Given the description of an element on the screen output the (x, y) to click on. 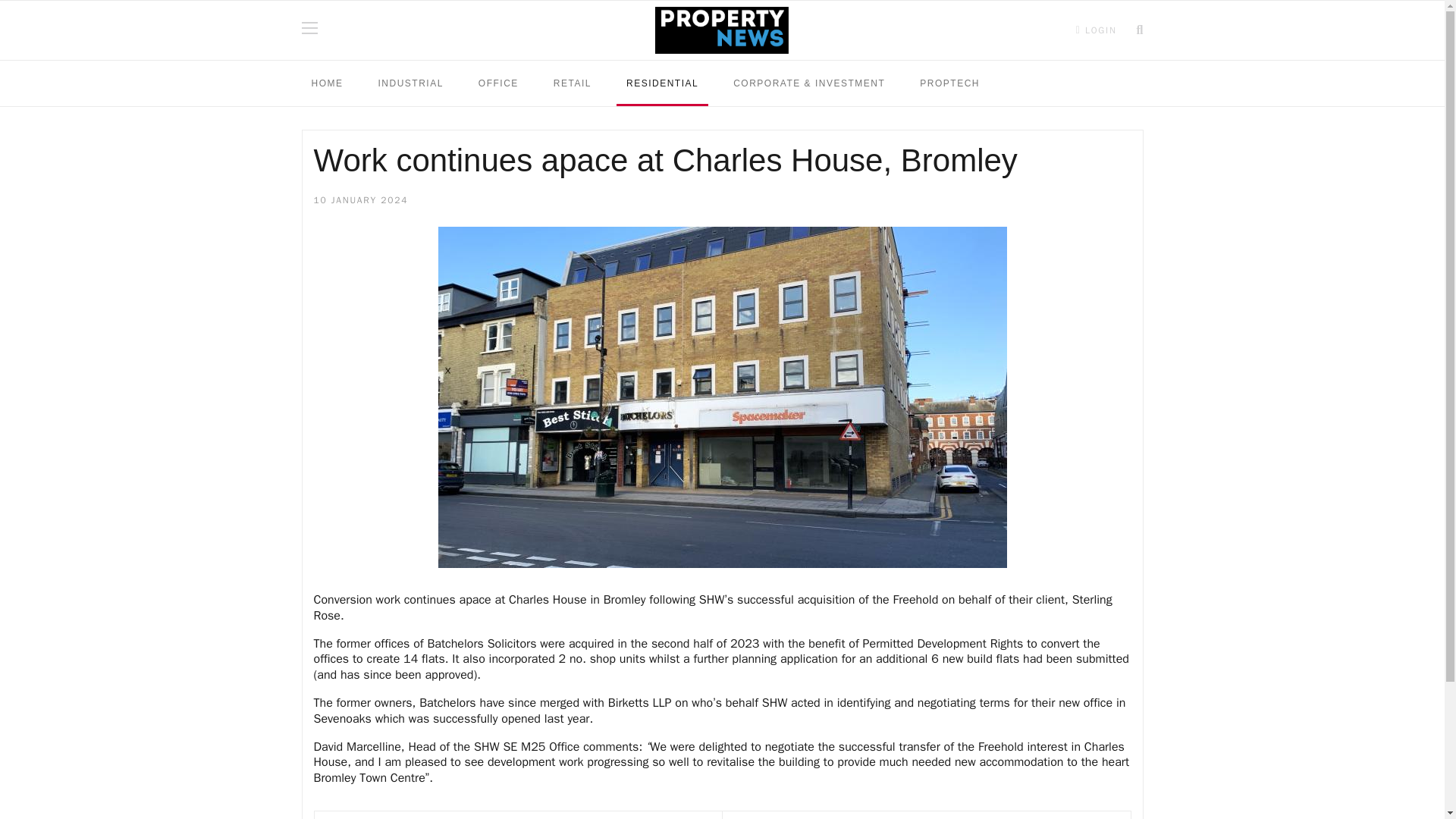
RETAIL (572, 83)
LOGIN (1096, 29)
INDUSTRIAL (410, 83)
OFFICE (498, 83)
HOME (327, 83)
RESIDENTIAL (661, 83)
Published: 10 January 2024 (361, 200)
PROPTECH (950, 83)
PREV (517, 815)
NEXT (926, 815)
